Given the description of an element on the screen output the (x, y) to click on. 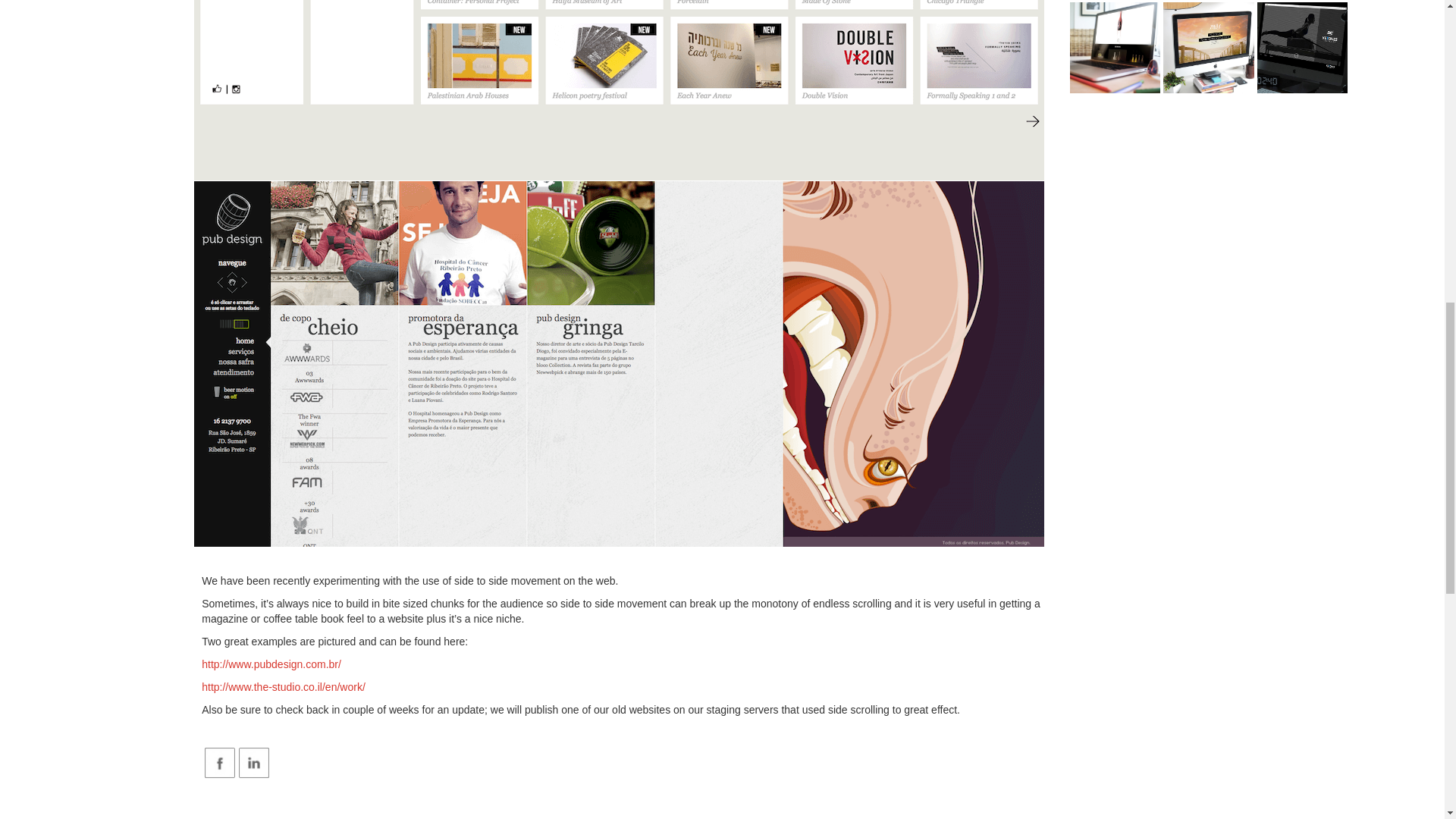
Facebook (219, 762)
LinkedIn (253, 762)
